Given the description of an element on the screen output the (x, y) to click on. 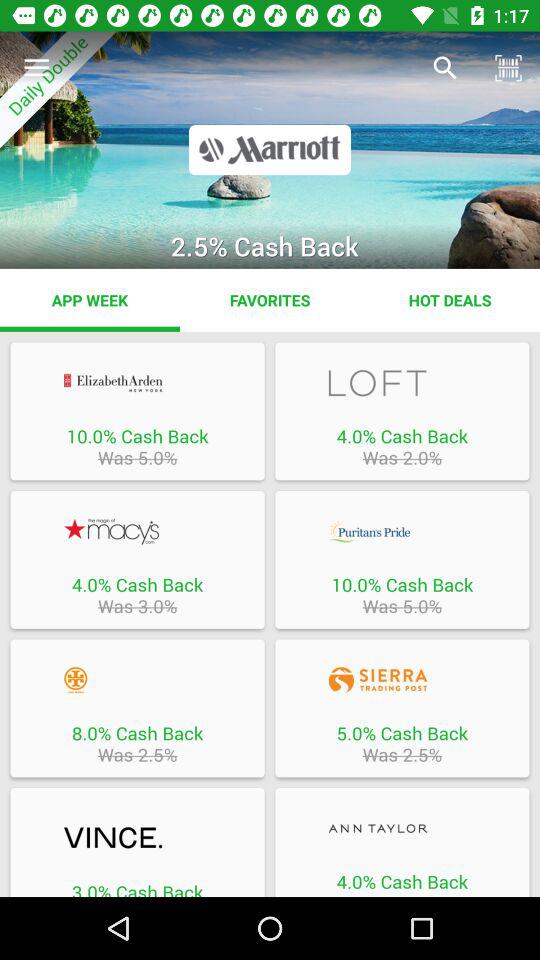
4 cashback at ann taylor (402, 828)
